Given the description of an element on the screen output the (x, y) to click on. 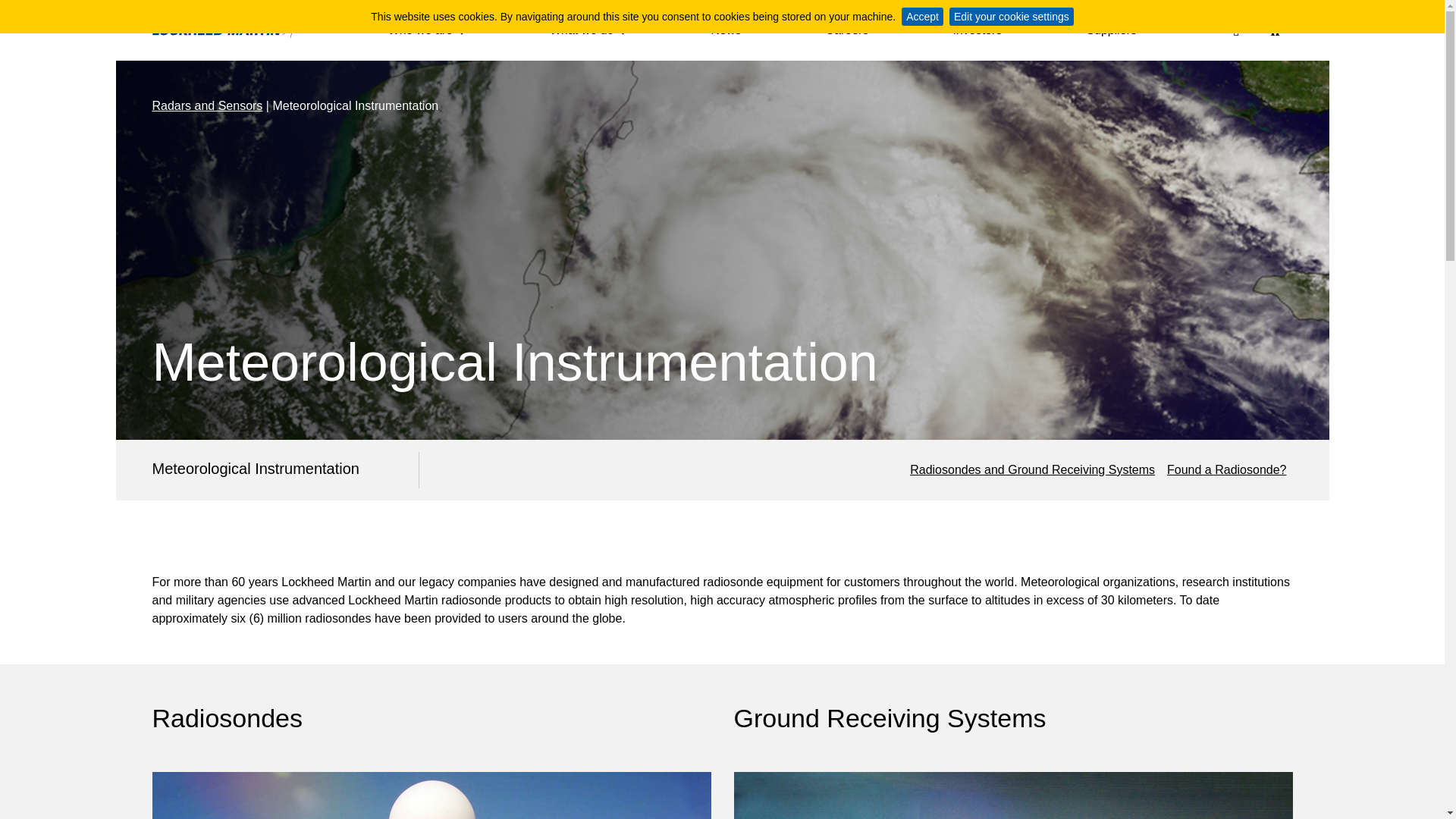
Who we are (426, 32)
Suppliers (1111, 32)
Investors (976, 32)
Careers (846, 32)
Accept (922, 16)
What we do (588, 32)
Edit your cookie settings (1011, 16)
News (725, 32)
